Given the description of an element on the screen output the (x, y) to click on. 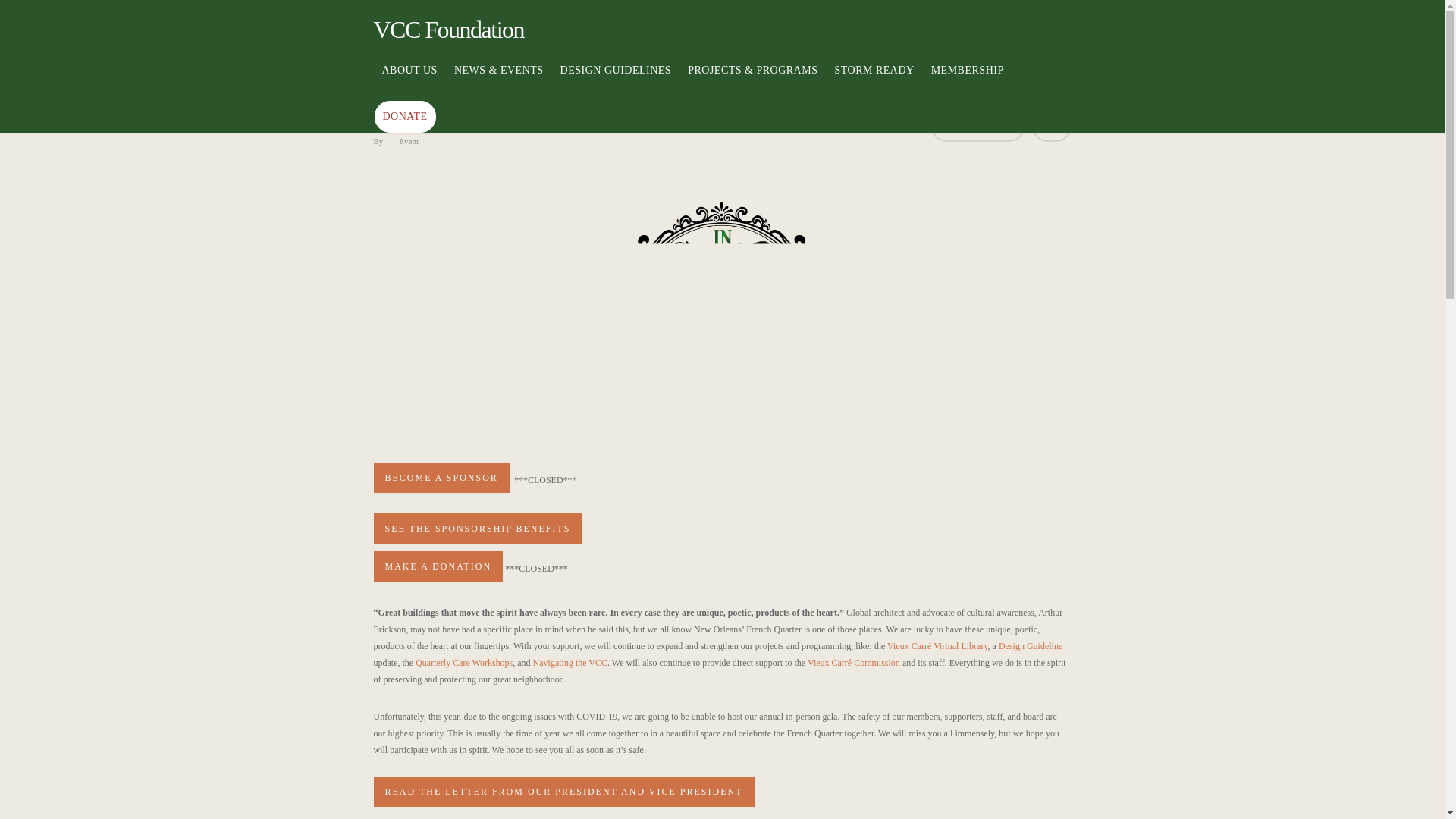
Quarterly Care Workshops (463, 662)
READ THE LETTER FROM OUR PRESIDENT AND VICE PRESIDENT (563, 791)
Event (408, 140)
MAKE A DONATION (437, 566)
VCC Foundation (448, 29)
BECOME A SPONSOR (440, 477)
Design Guideline (1030, 645)
STORM READY (874, 81)
Love this (1051, 125)
MEMBERSHIP (967, 81)
